Given the description of an element on the screen output the (x, y) to click on. 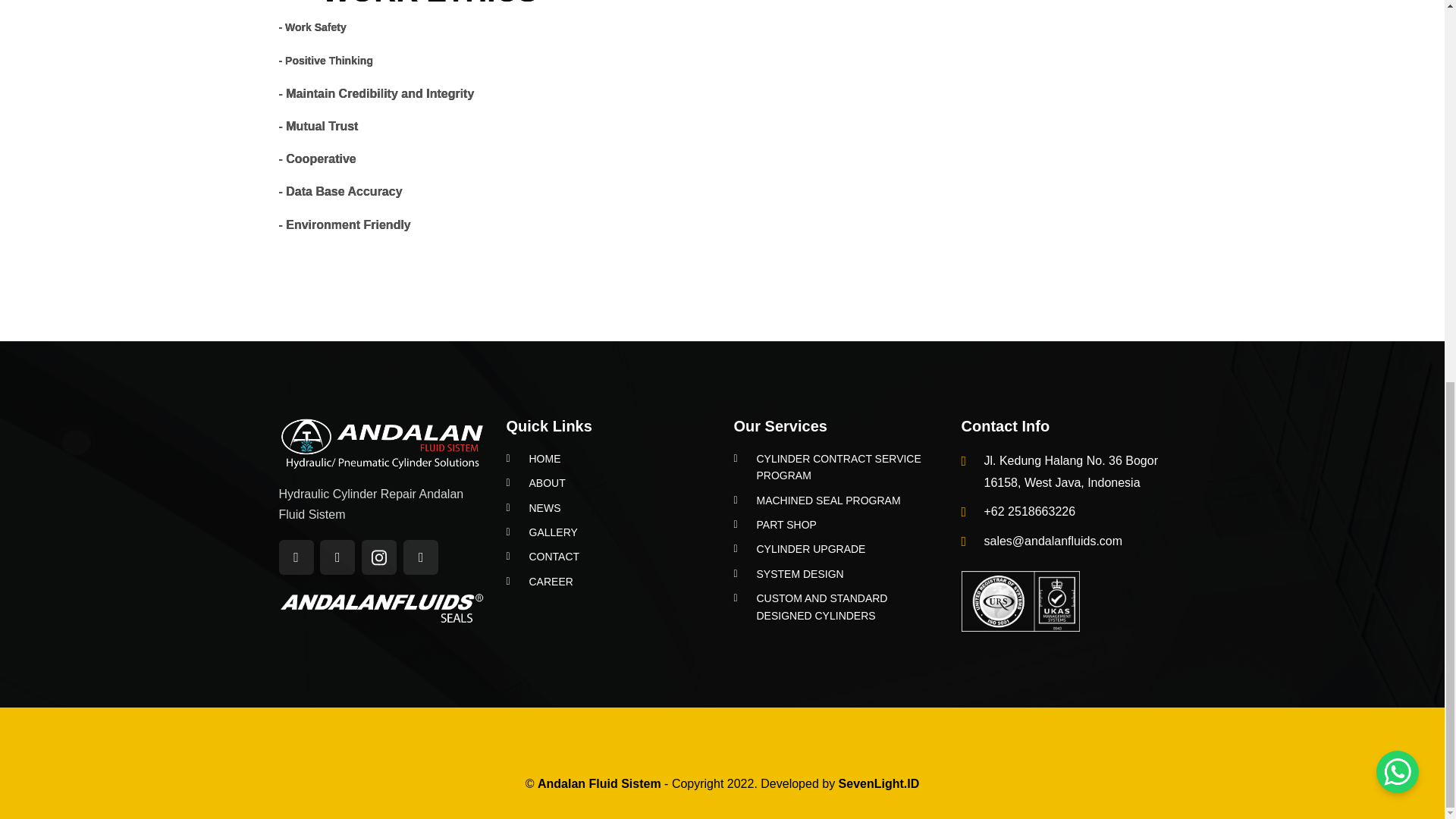
Andalan Fluid Sistem (1020, 600)
Andalan Fluid Sistem (381, 442)
Andalan Fluid Sistem (381, 608)
